Given the description of an element on the screen output the (x, y) to click on. 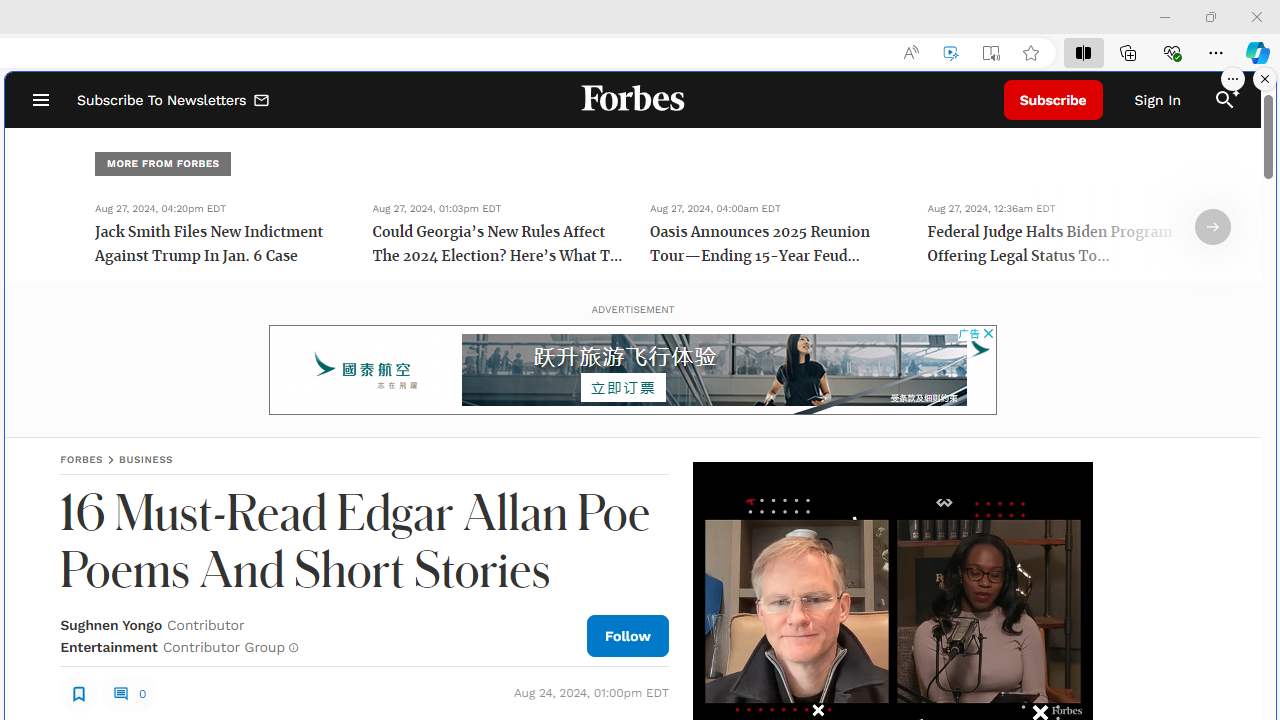
Entertainment (108, 646)
More options. (1233, 79)
Enhance video (950, 53)
Class: fs-icon fs-icon--arrow-right (1212, 227)
Sughnen Yongo (111, 623)
FORBES (81, 459)
Class: fs-icon fs-icon--comment (120, 693)
